Given the description of an element on the screen output the (x, y) to click on. 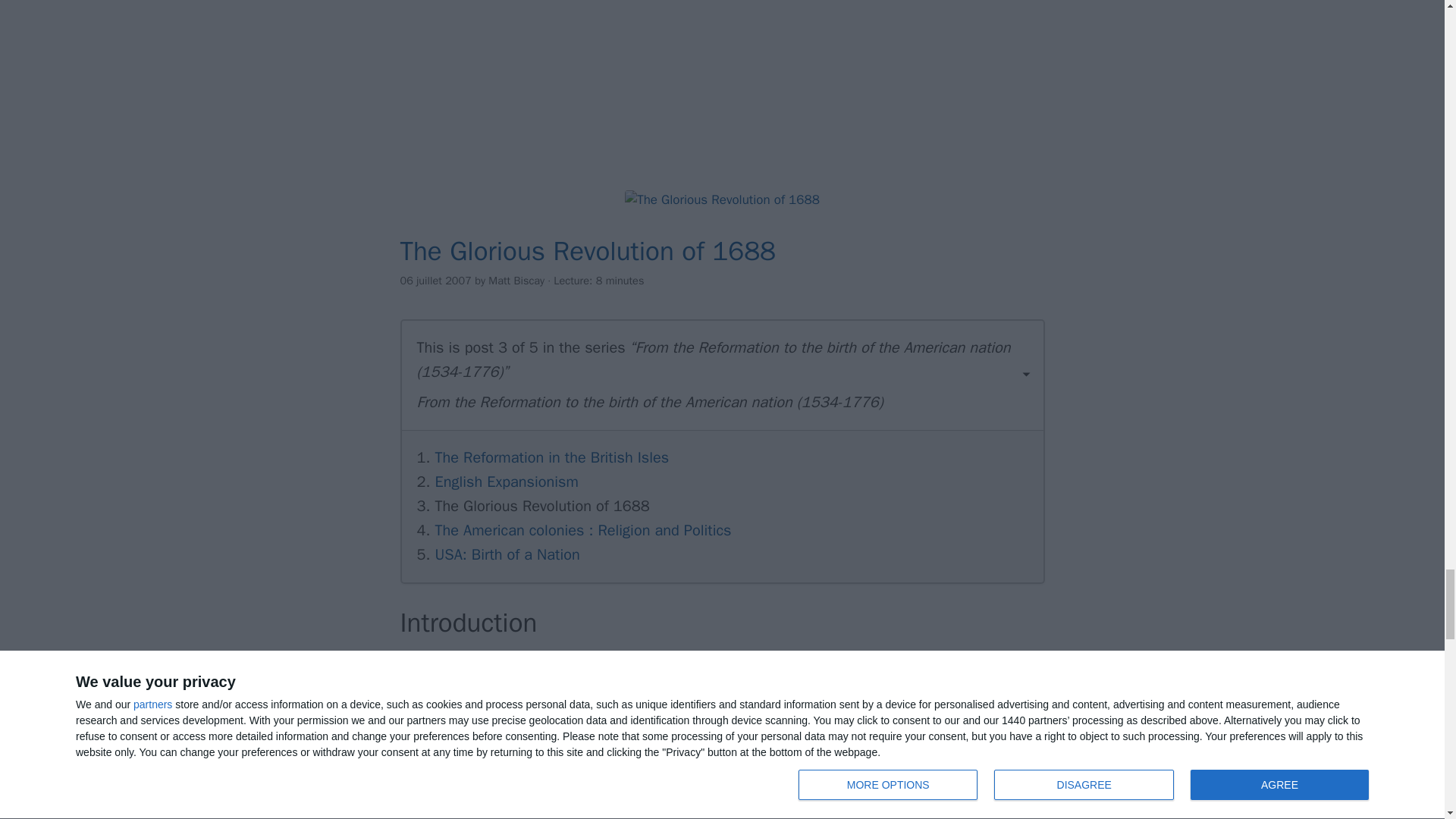
View all posts by Matt Biscay (515, 280)
The Glorious Revolution of 1688 (721, 199)
